Given the description of an element on the screen output the (x, y) to click on. 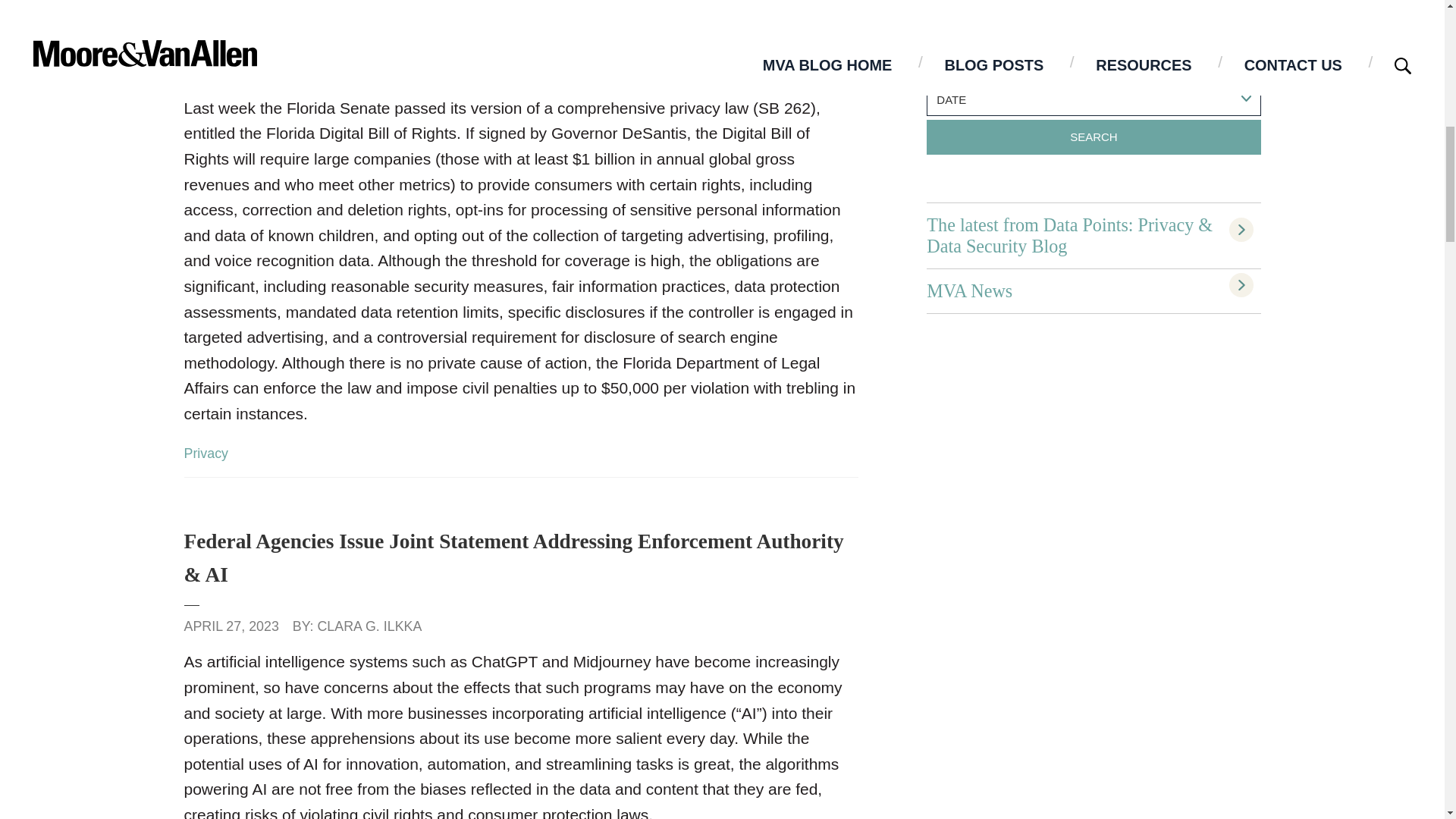
Search (1093, 136)
Privacy (205, 453)
KARIN M. MCGINNIS (364, 71)
CLARA G. ILKKA (369, 626)
